Given the description of an element on the screen output the (x, y) to click on. 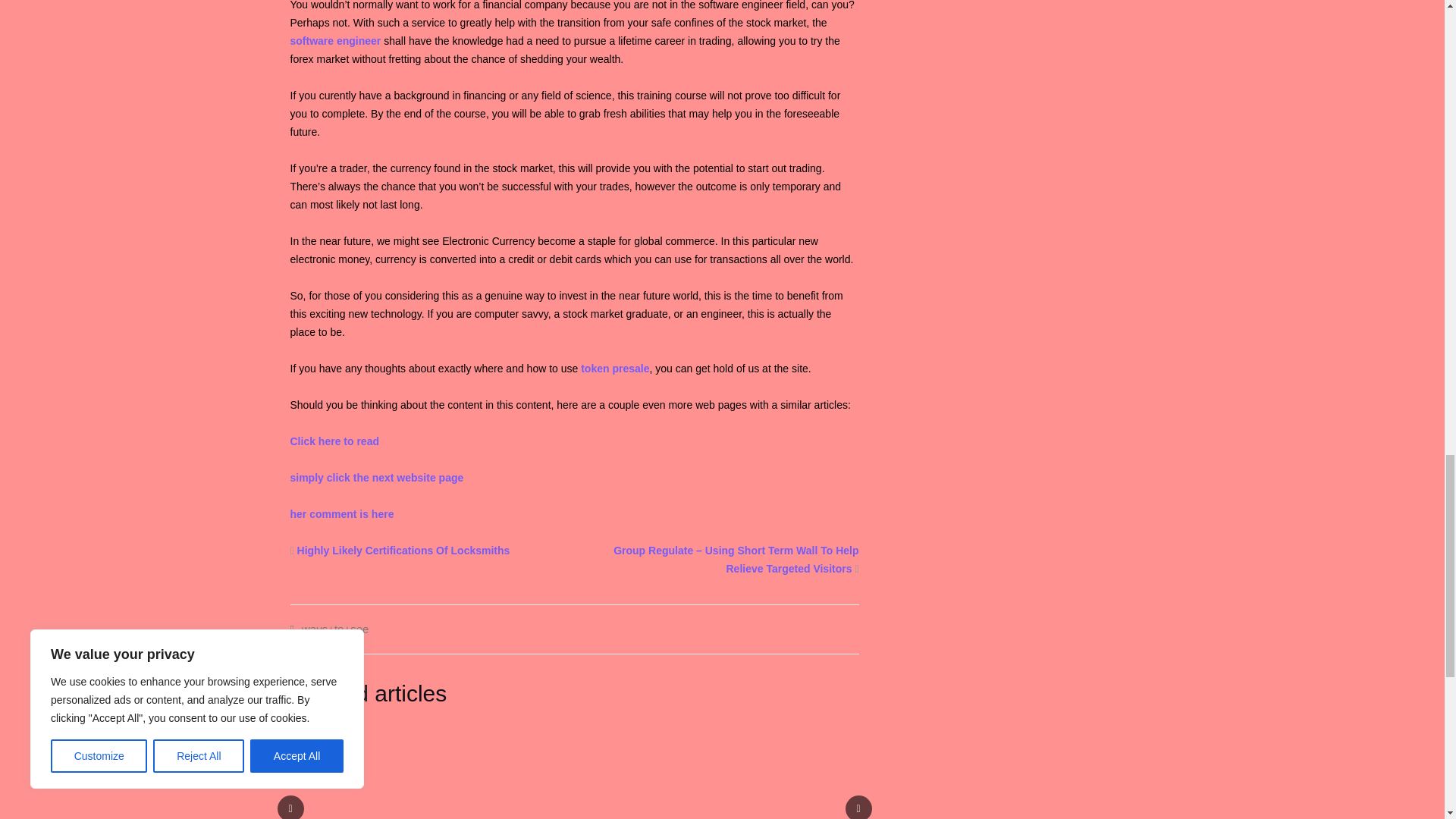
simply click the next website page (376, 477)
software engineer (334, 40)
token presale (614, 368)
Click here to read (333, 440)
her comment is here (341, 513)
Highly Likely Certifications Of Locksmiths (404, 550)
